Given the description of an element on the screen output the (x, y) to click on. 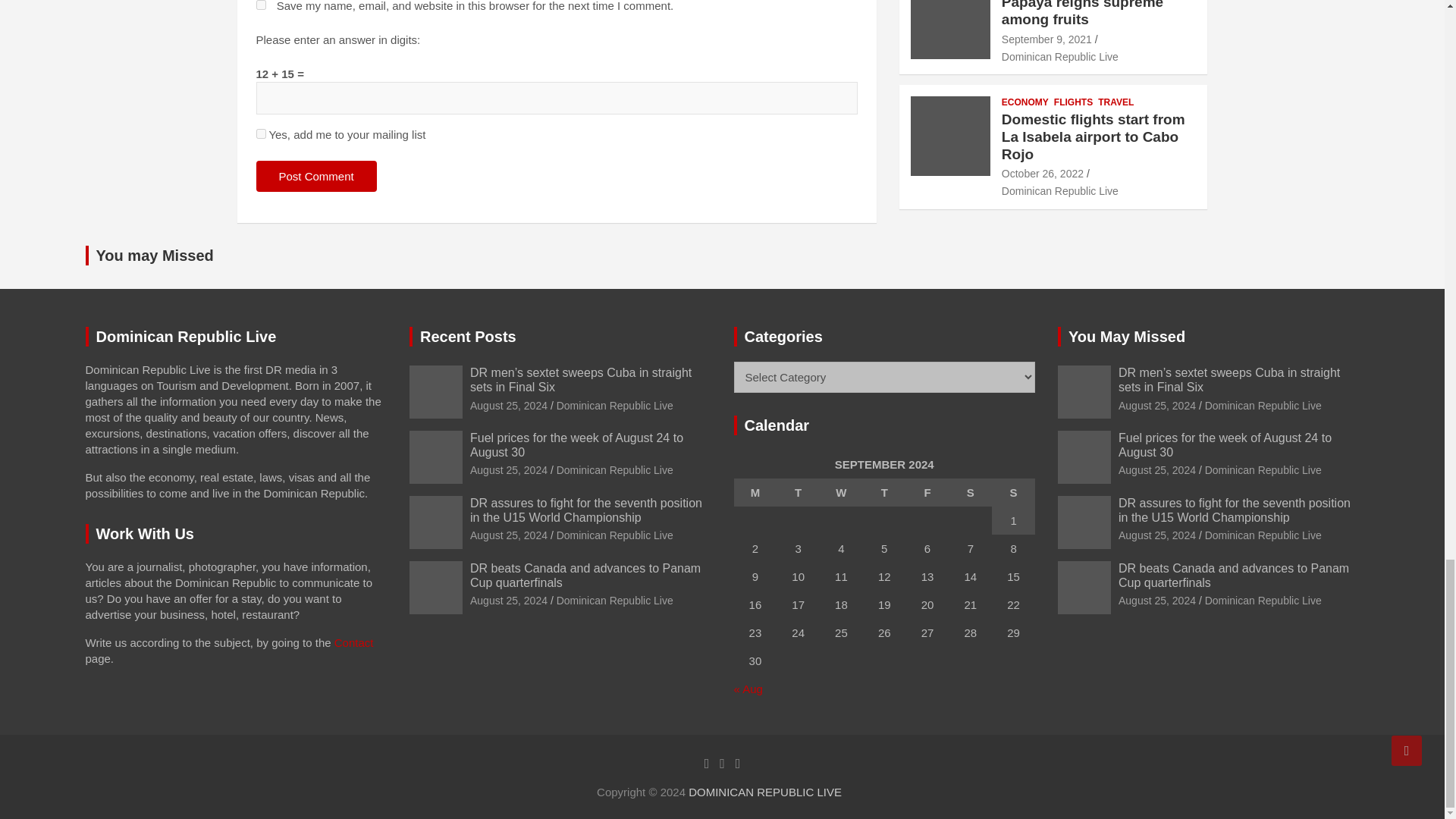
Post Comment (316, 175)
Papaya reigns supreme among fruits (1046, 39)
1 (261, 133)
yes (261, 4)
Domestic flights start from La Isabela airport to Cabo Rojo (1042, 173)
Post Comment (316, 175)
